Given the description of an element on the screen output the (x, y) to click on. 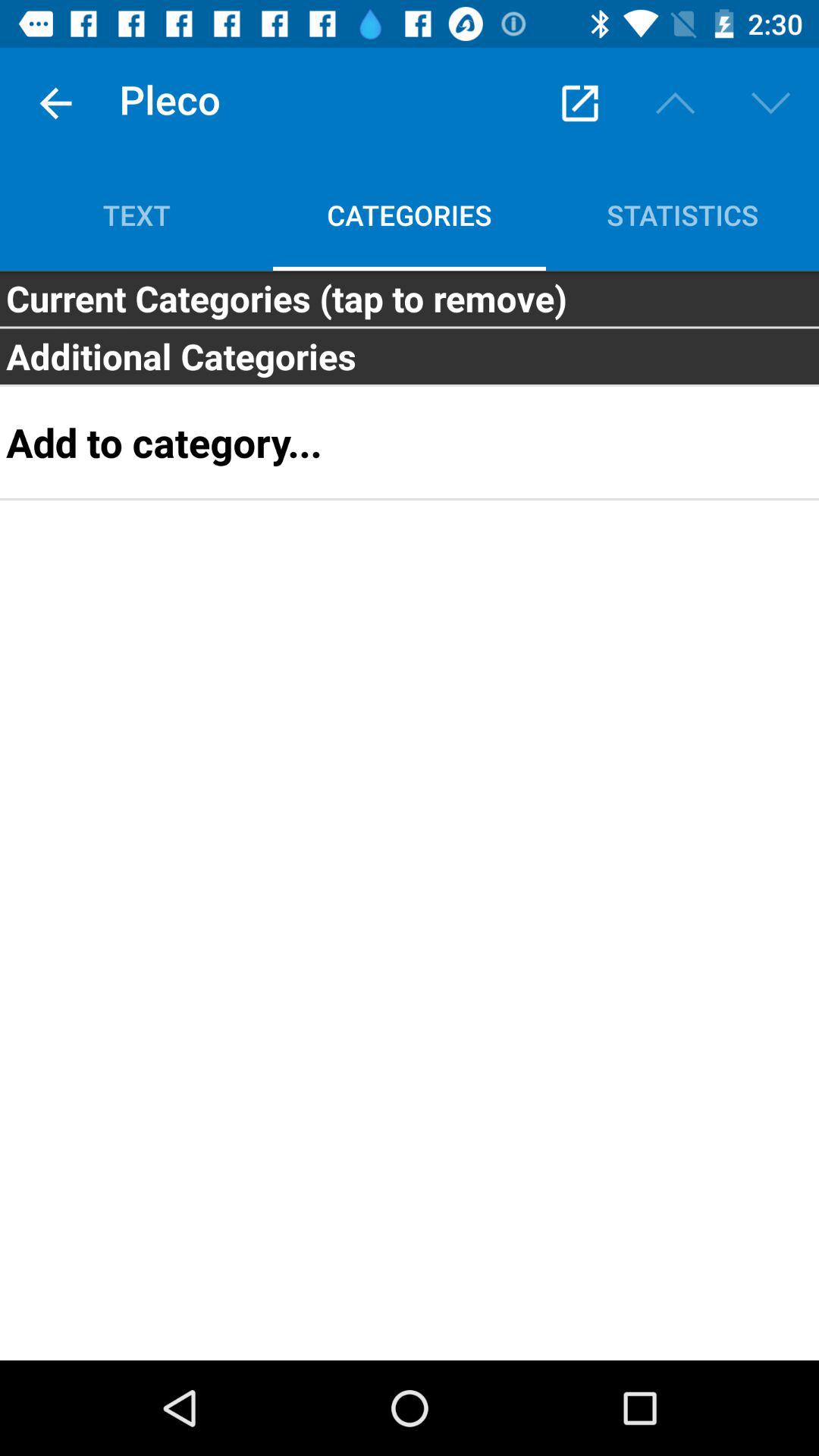
click additional categories item (409, 356)
